Given the description of an element on the screen output the (x, y) to click on. 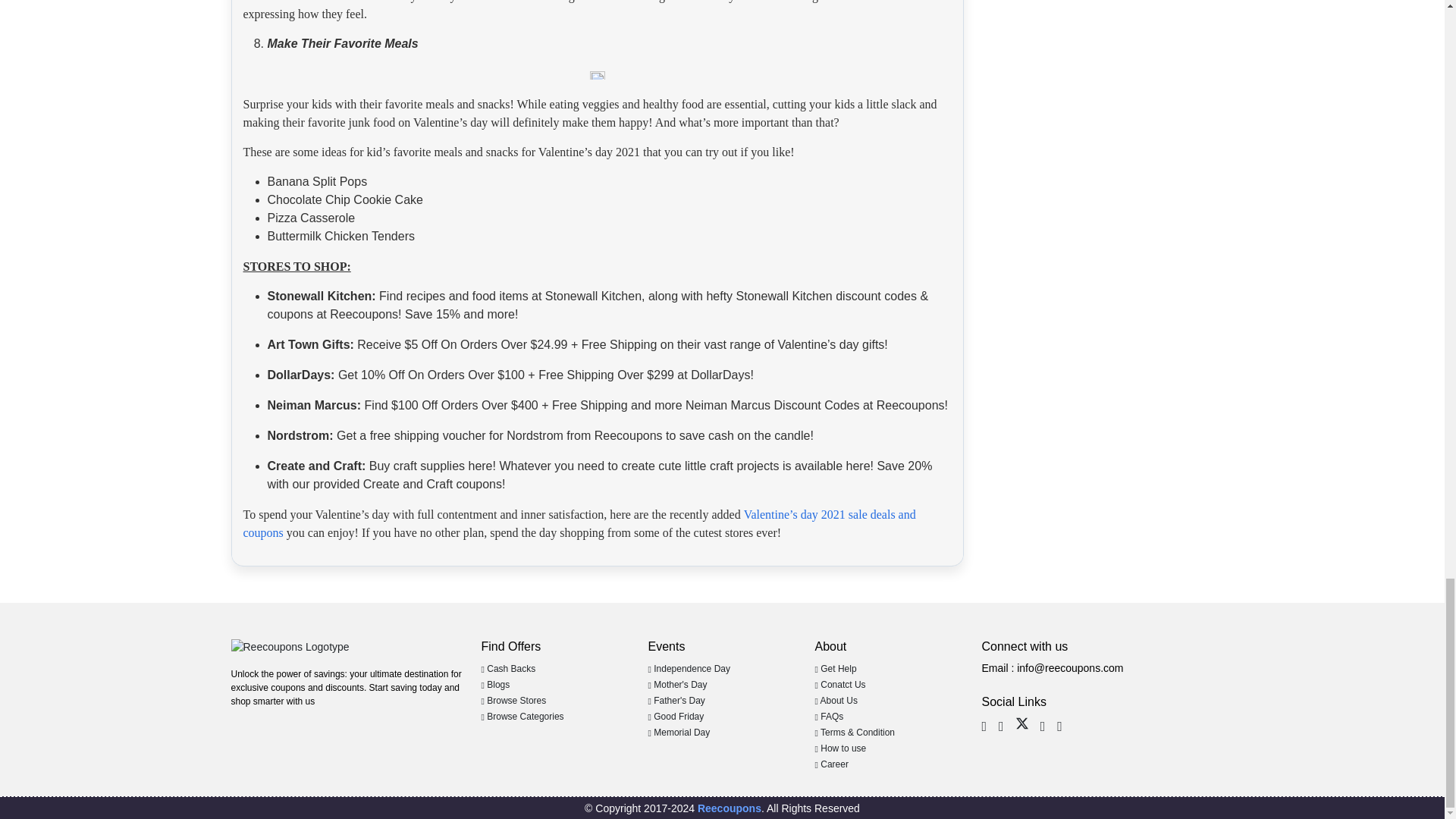
Mother's Day (676, 684)
Memorial Day (678, 732)
Independence Day (688, 668)
Father's Day (675, 700)
Good Friday (675, 716)
